Given the description of an element on the screen output the (x, y) to click on. 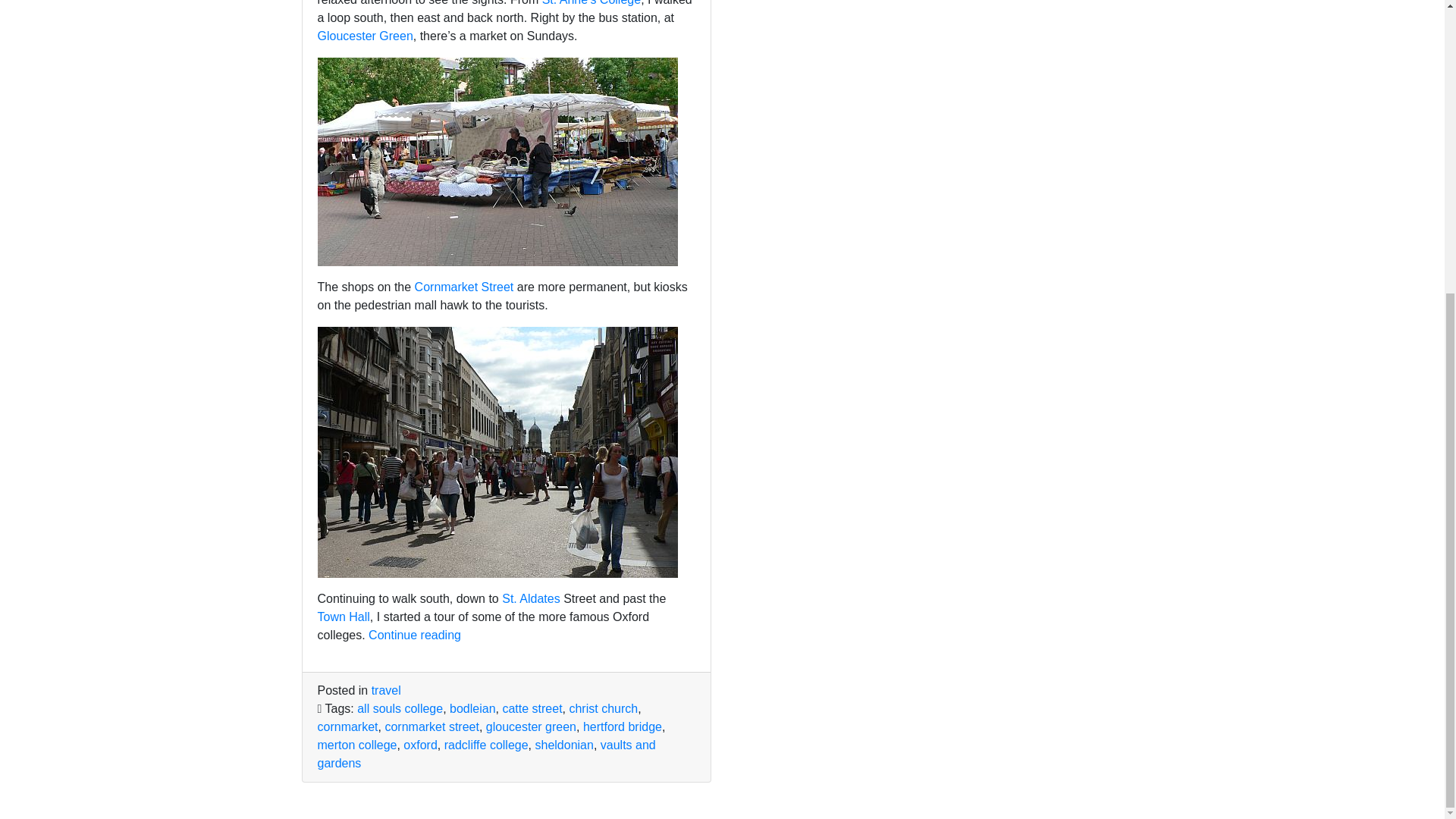
Cornmarket Street (463, 286)
all souls college (399, 707)
cornmarket (347, 726)
radcliffe college (486, 744)
Gloucester Green (364, 35)
sheldonian (563, 744)
vaults and gardens (486, 753)
Town Hall (343, 616)
merton college (356, 744)
bodleian (472, 707)
St. Aldates (531, 598)
travel (386, 689)
catte street (532, 707)
oxford (419, 744)
christ church (603, 707)
